Given the description of an element on the screen output the (x, y) to click on. 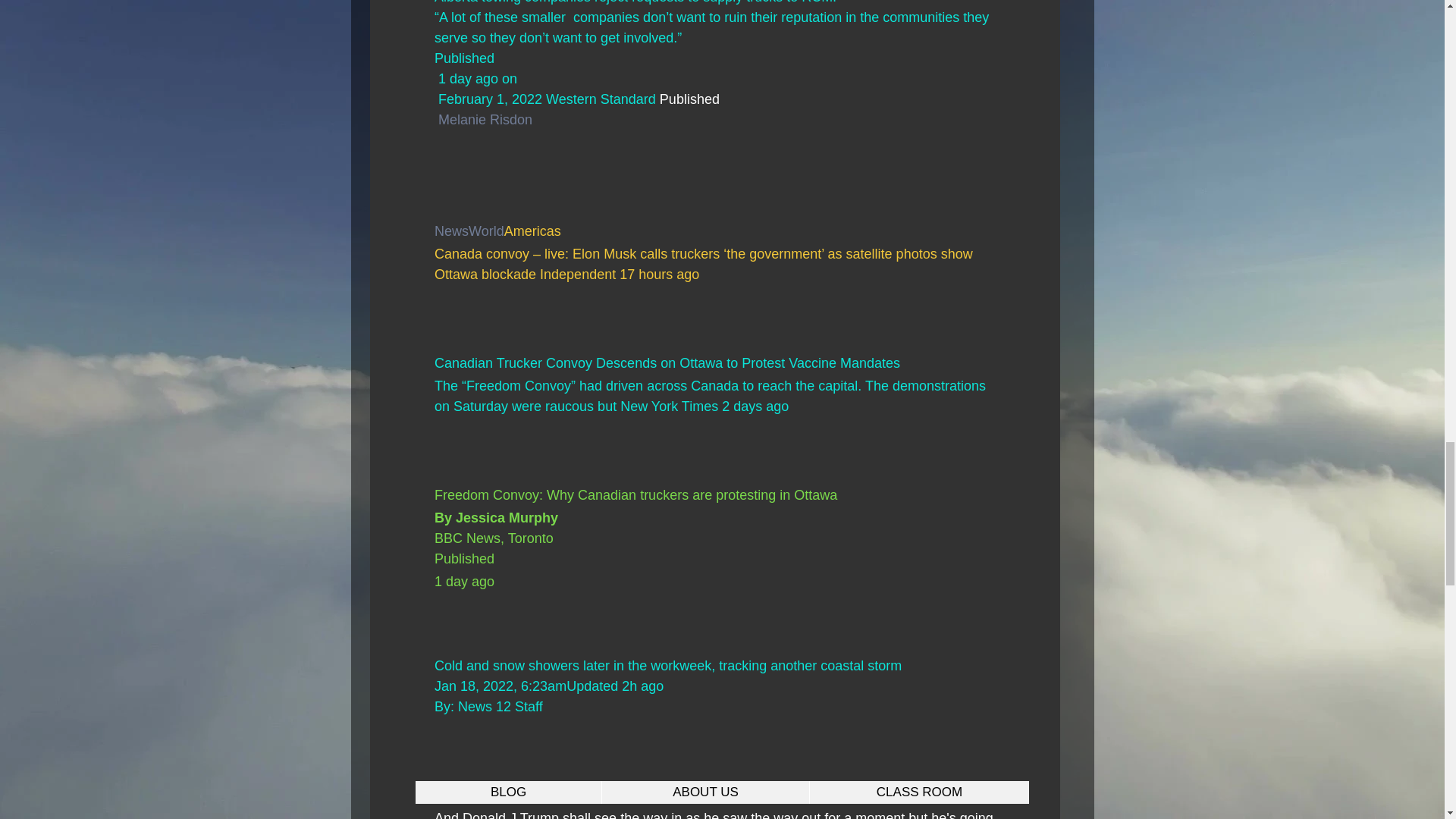
Americas (531, 231)
World (485, 231)
Melanie Risdon (485, 119)
News (450, 231)
